Given the description of an element on the screen output the (x, y) to click on. 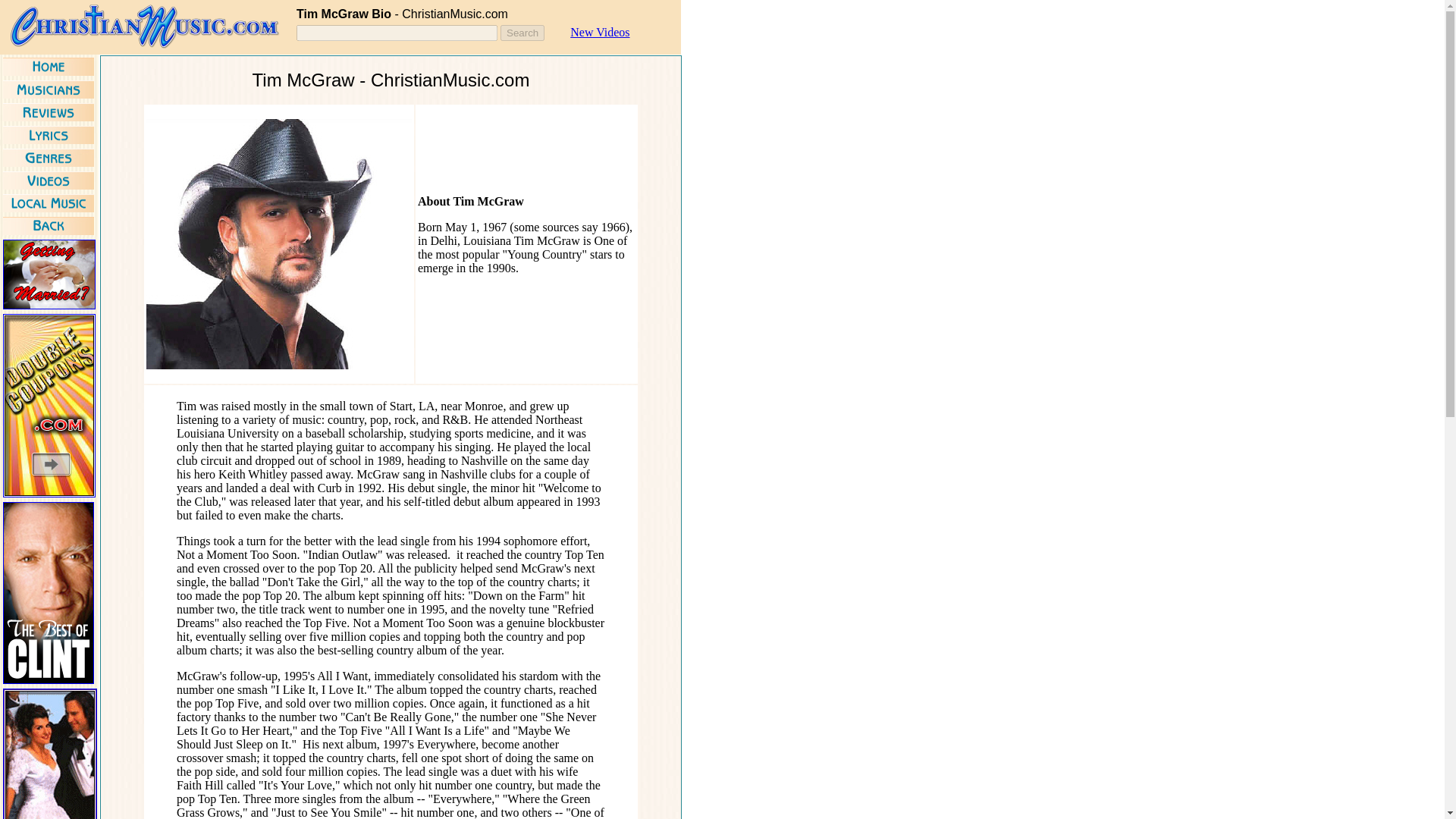
Search (522, 32)
Search (522, 32)
New Videos (599, 31)
